Given the description of an element on the screen output the (x, y) to click on. 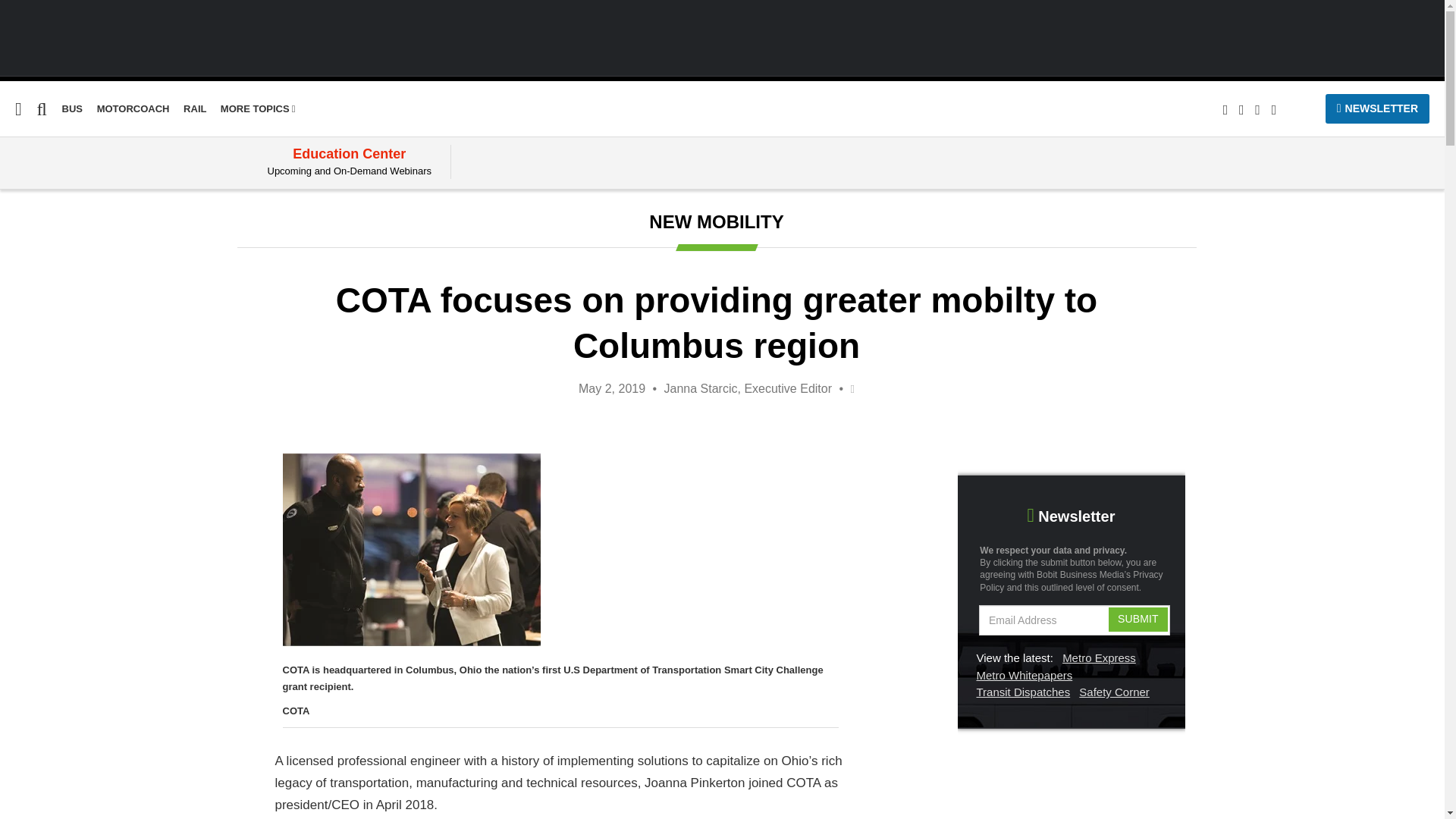
Security and Safety (58, 323)
Paratransit (32, 264)
Bus (72, 108)
Security and Safety (58, 323)
Bus (10, 206)
Rail (194, 108)
RAIL (194, 108)
Bus (10, 206)
MOTORCOACH (133, 108)
Rail (10, 236)
